Given the description of an element on the screen output the (x, y) to click on. 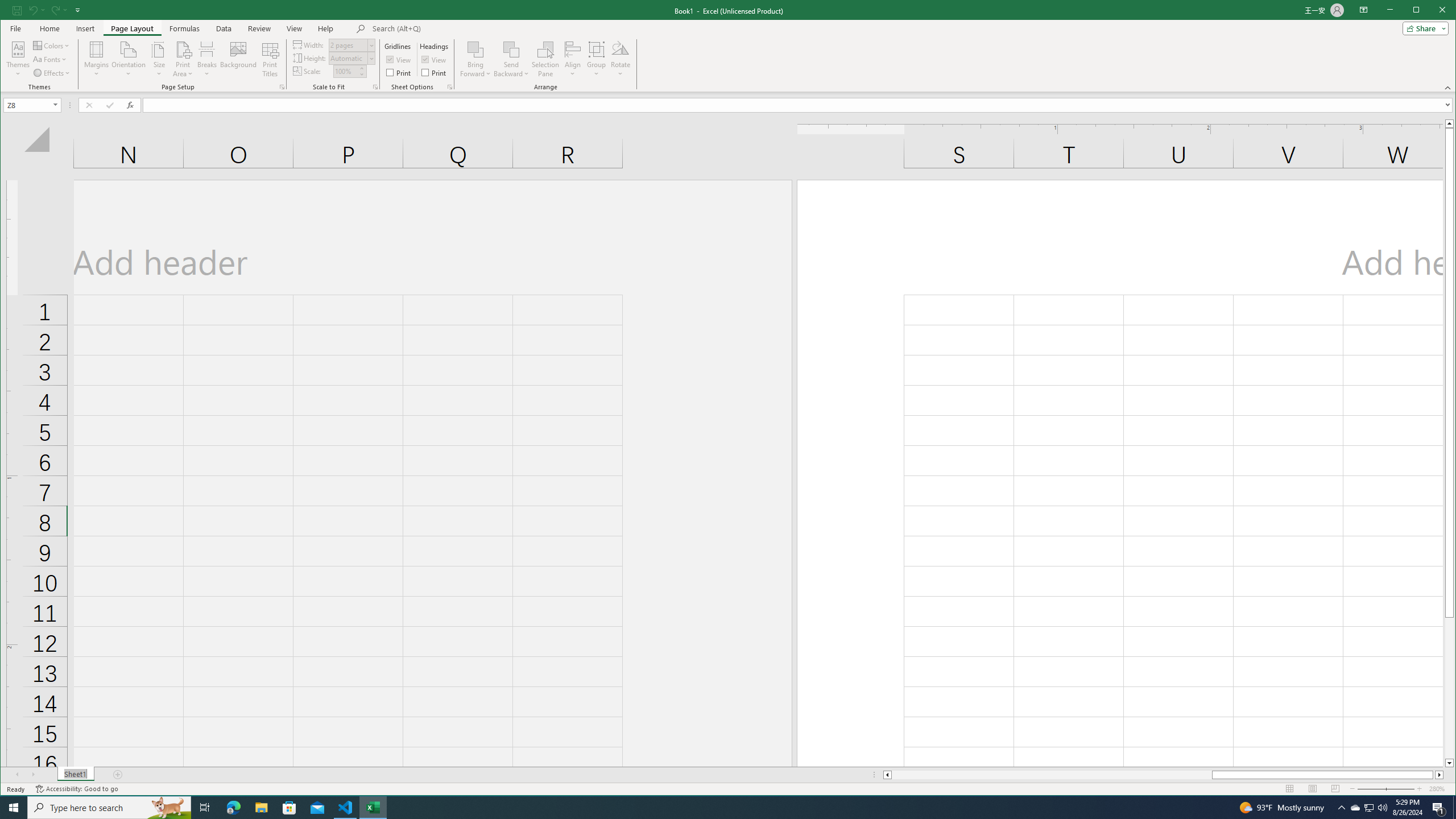
Rotate (619, 59)
Breaks (206, 59)
Excel - 1 running window (373, 807)
Selection Pane... (544, 59)
Group (596, 59)
Width (352, 44)
Bring Forward (475, 48)
